Given the description of an element on the screen output the (x, y) to click on. 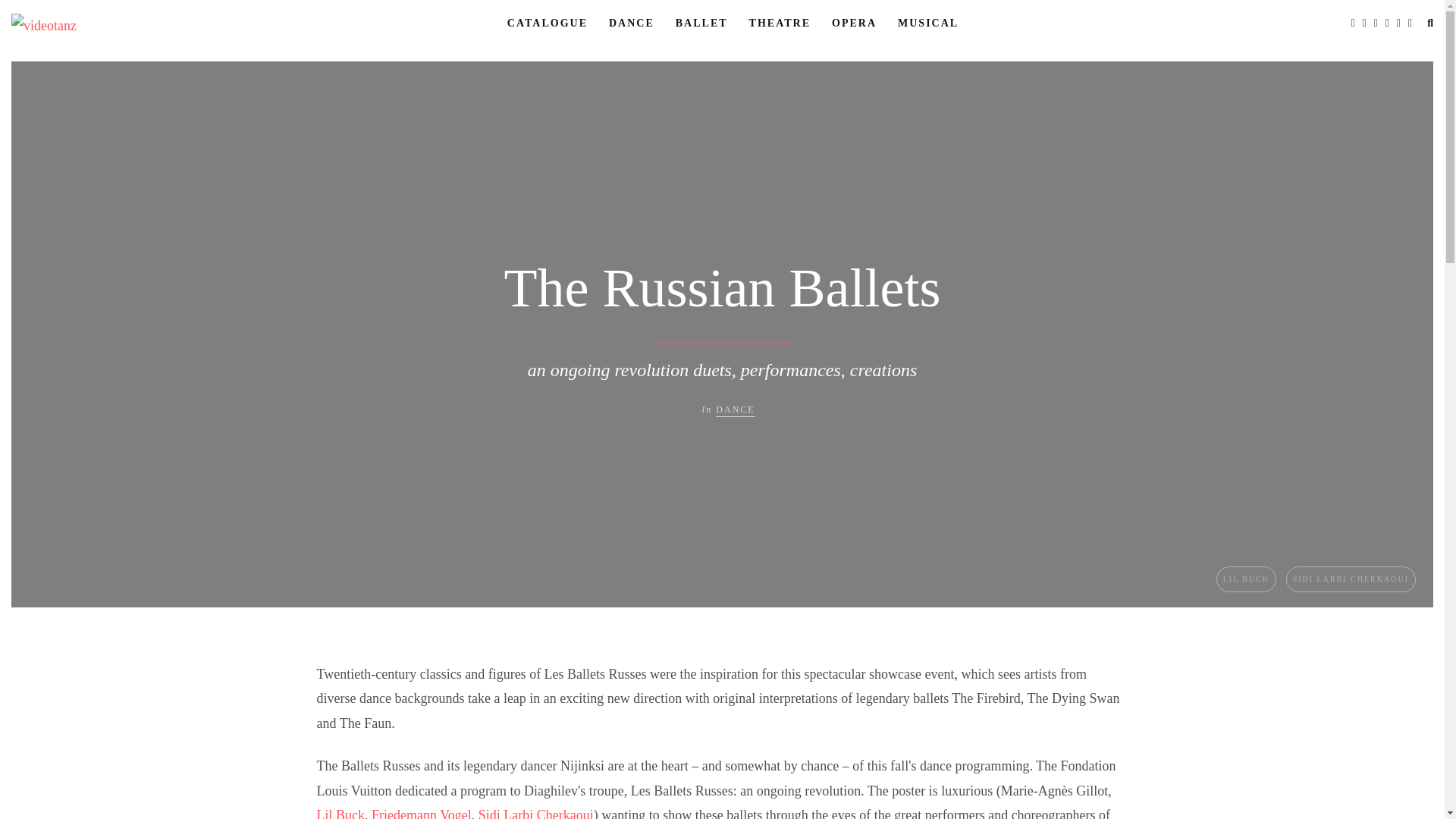
Posts tagged with Friedemann Vogel (421, 813)
Posts tagged with Sidi Larbi Cherkaoui (536, 813)
CATALOGUE (547, 22)
Posts tagged with Lil Buck (340, 813)
